Given the description of an element on the screen output the (x, y) to click on. 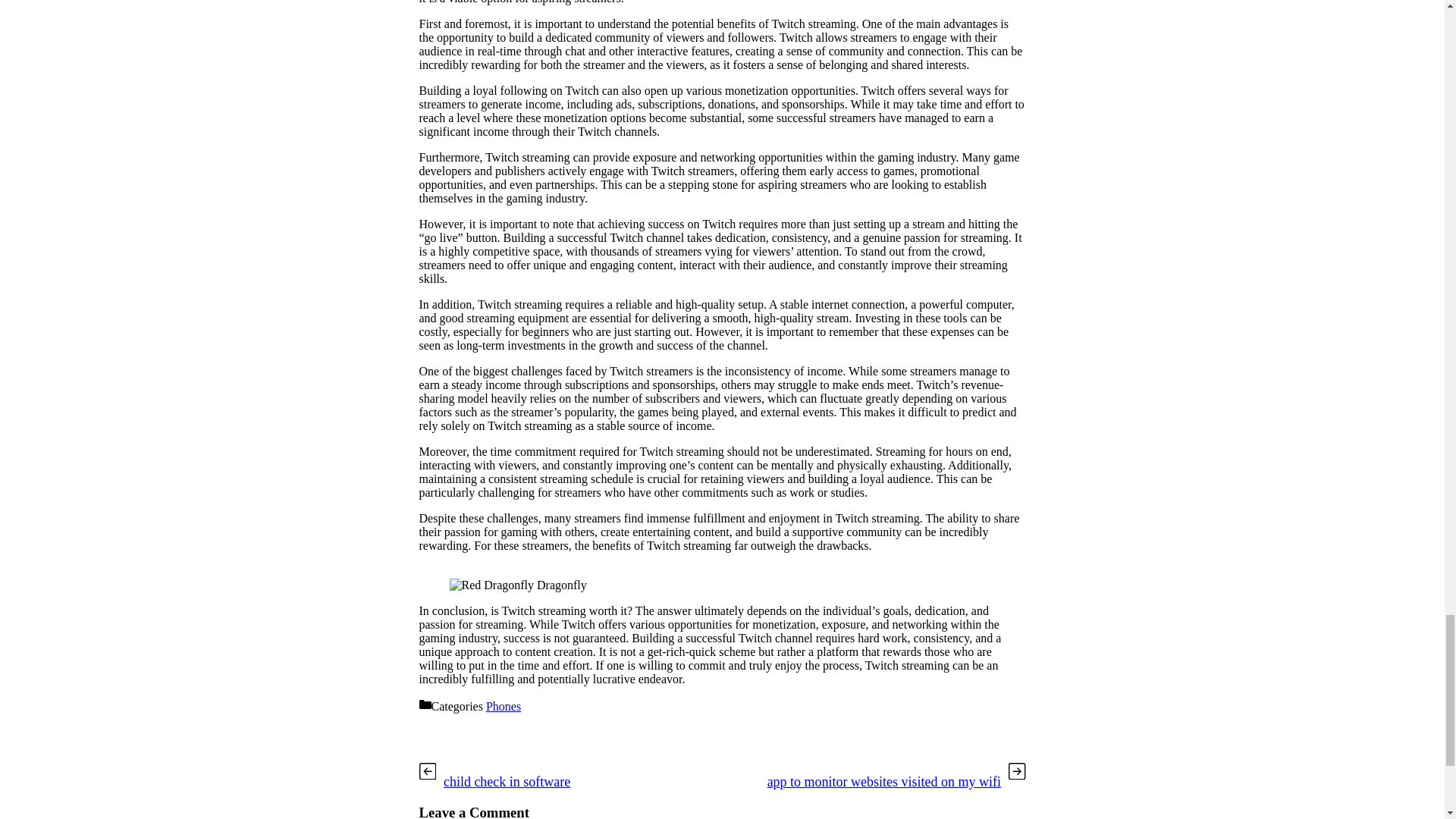
child check in software (507, 781)
app to monitor websites visited on my wifi (884, 781)
Red Dragonfly Dragonfly (517, 585)
Phones (503, 706)
